Given the description of an element on the screen output the (x, y) to click on. 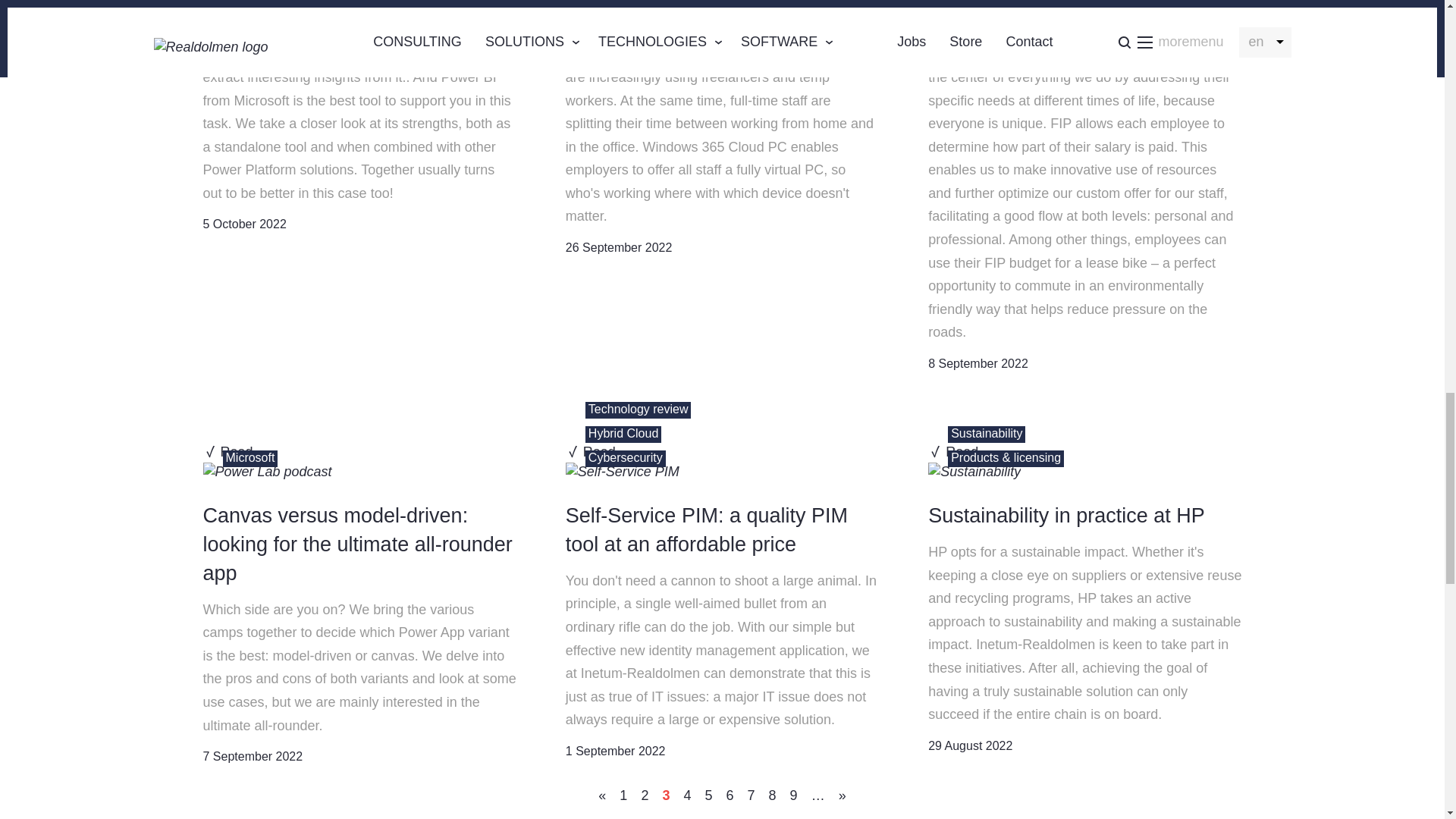
Sustainability (974, 472)
Self-Service PIM (622, 472)
